Given the description of an element on the screen output the (x, y) to click on. 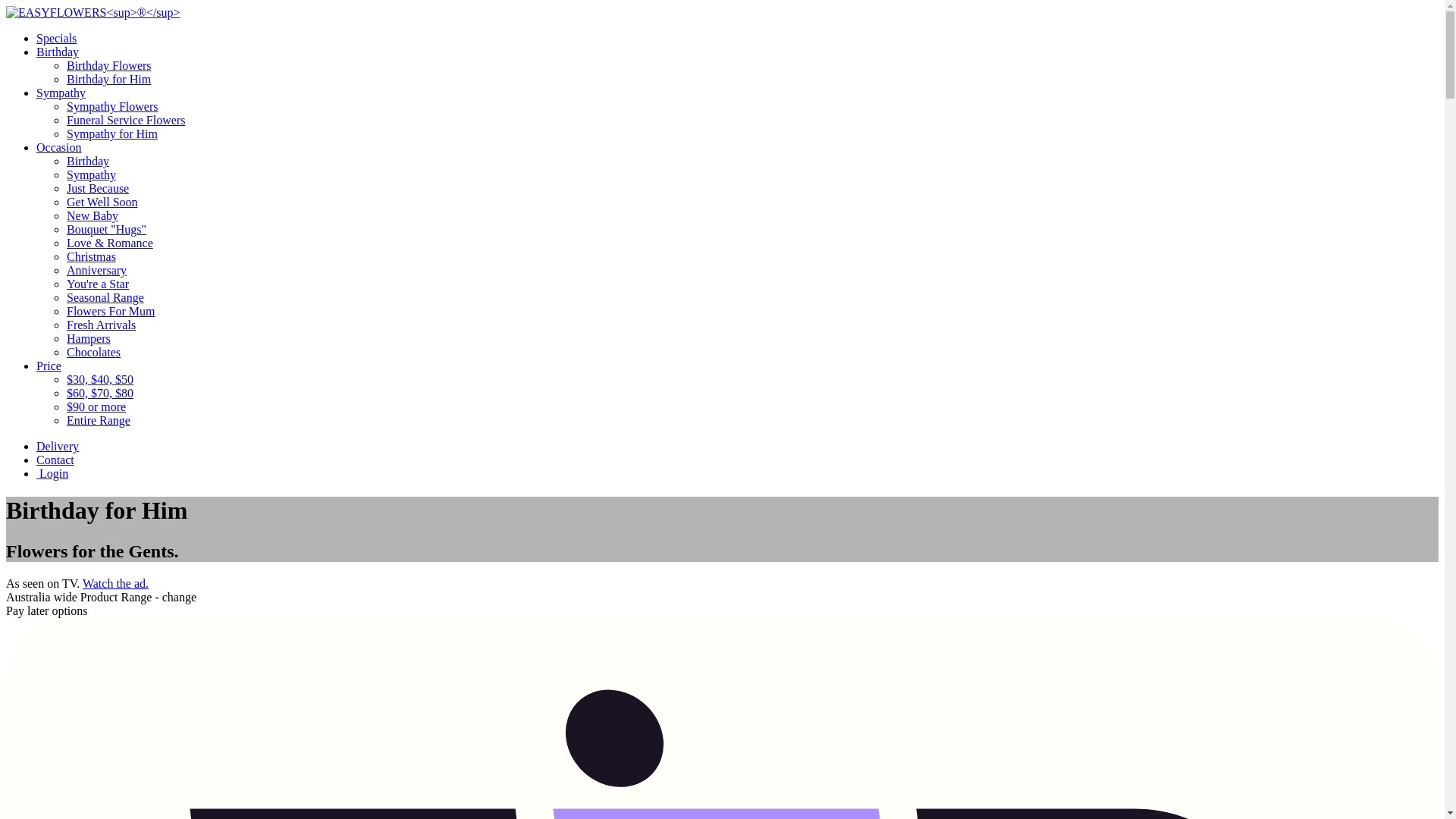
Bouquet "Hugs" Element type: text (752, 228)
Sympathy Element type: text (60, 92)
Birthday Element type: text (752, 160)
Just Because Element type: text (752, 188)
You're a Star Element type: text (752, 283)
Birthday Flowers Element type: text (752, 65)
Love & Romance Element type: text (752, 242)
$60, $70, $80 Element type: text (752, 392)
Flowers For Mum Element type: text (752, 310)
change Element type: text (179, 596)
Delivery Element type: text (57, 445)
Seasonal Range Element type: text (752, 297)
 Login Element type: text (52, 473)
Occasion Element type: text (58, 147)
Sympathy for Him Element type: text (752, 133)
Get Well Soon Element type: text (752, 201)
$90 or more Element type: text (752, 406)
Price Element type: text (48, 365)
Anniversary Element type: text (752, 269)
$30, $40, $50 Element type: text (752, 379)
Specials Element type: text (56, 37)
Funeral Service Flowers Element type: text (752, 119)
Watch the ad. Element type: text (115, 583)
Christmas Element type: text (752, 256)
Contact Element type: text (55, 459)
Hampers Element type: text (752, 338)
Birthday for Him Element type: text (752, 78)
Birthday Element type: text (57, 51)
New Baby Element type: text (752, 215)
Entire Range Element type: text (752, 420)
Sympathy Flowers Element type: text (752, 106)
Fresh Arrivals Element type: text (752, 324)
Sympathy Element type: text (752, 174)
Chocolates Element type: text (752, 351)
